Given the description of an element on the screen output the (x, y) to click on. 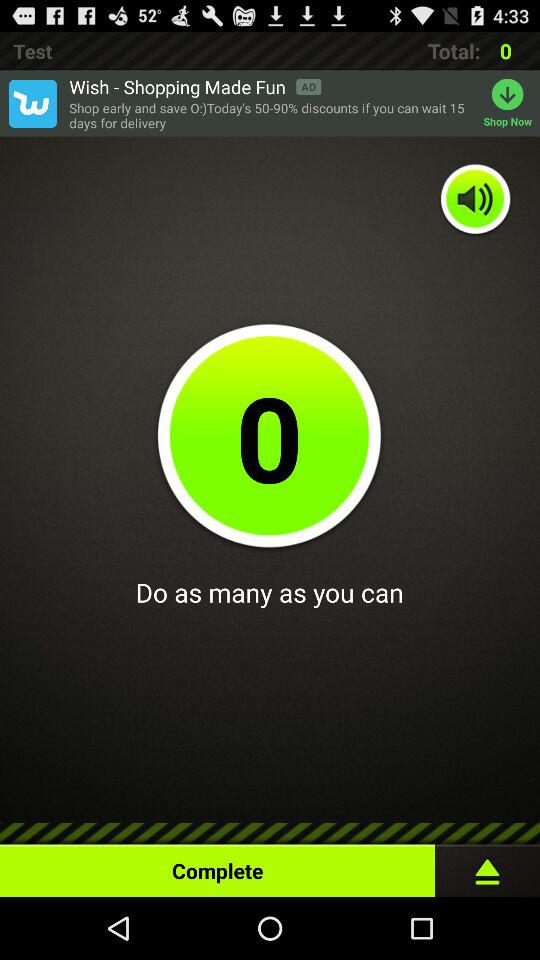
turn on the app to the left of shop now (271, 115)
